Given the description of an element on the screen output the (x, y) to click on. 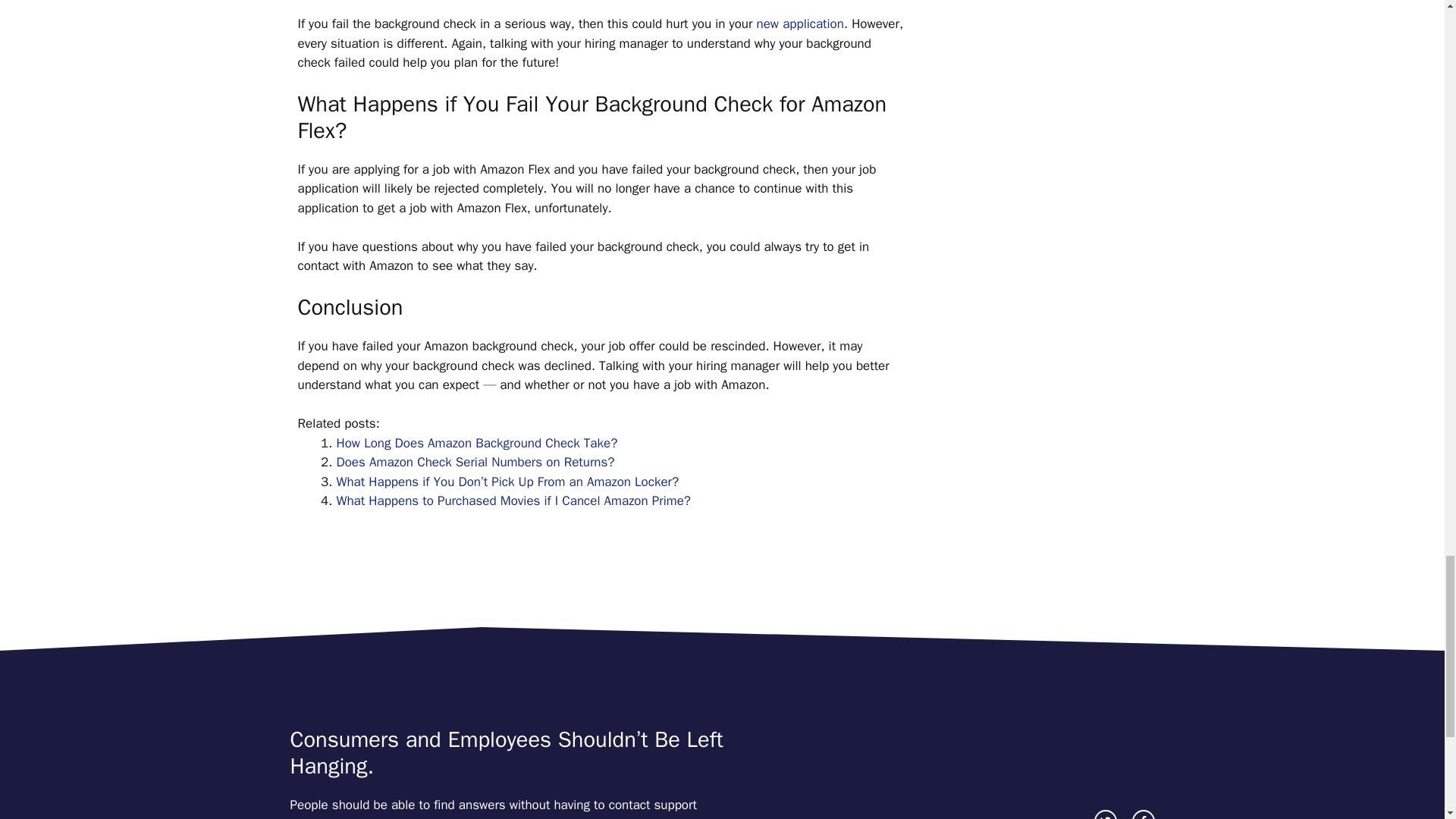
What Happens to Purchased Movies if I Cancel Amazon Prime? (513, 500)
How Long Does Amazon Background Check Take? (476, 442)
How Long Does Amazon Background Check Take? (476, 442)
What Happens to Purchased Movies if I Cancel Amazon Prime? (513, 500)
new application (800, 23)
Does Amazon Check Serial Numbers on Returns? (475, 462)
Does Amazon Check Serial Numbers on Returns? (475, 462)
